Given the description of an element on the screen output the (x, y) to click on. 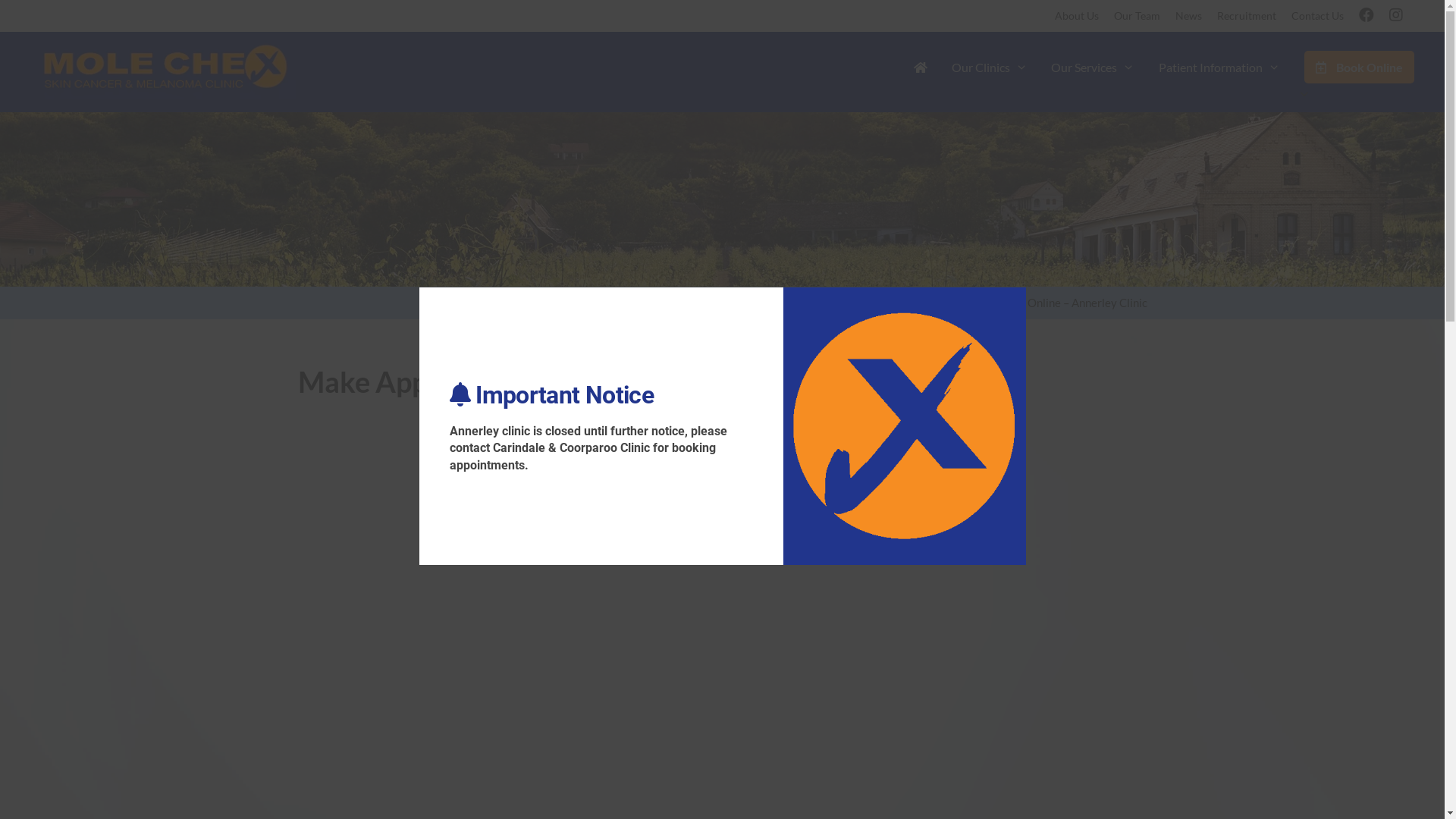
About Us Element type: text (1076, 15)
Our Clinics Element type: text (989, 67)
News Element type: text (1188, 15)
Our Services Element type: text (1092, 67)
Book Online Element type: text (1353, 67)
Patient Information Element type: text (1219, 67)
Our Team Element type: text (1136, 15)
Recruitment Element type: text (1246, 15)
Contact Us Element type: text (1317, 15)
Home Element type: text (974, 302)
